Given the description of an element on the screen output the (x, y) to click on. 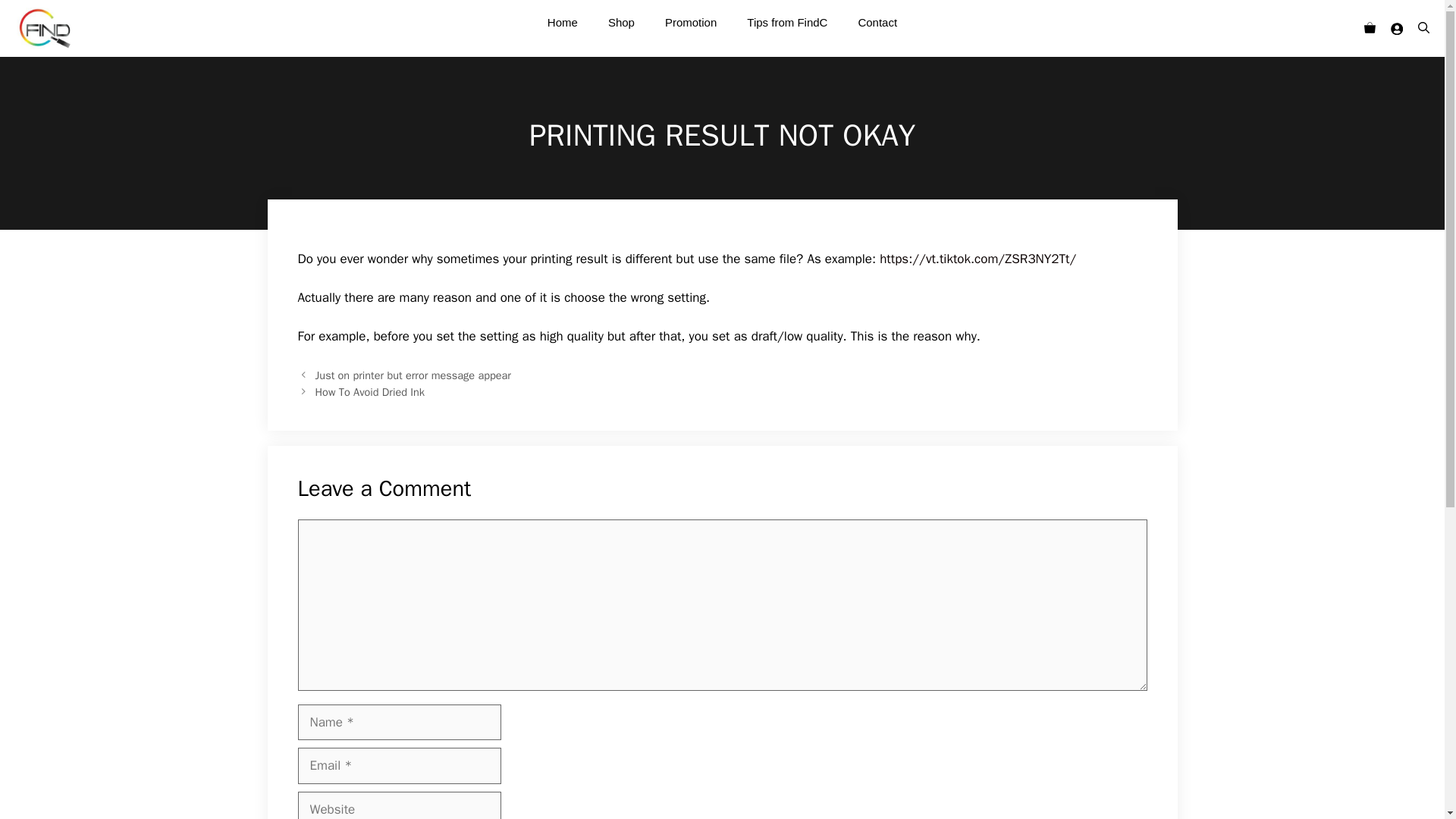
Just on printer but error message appear (413, 375)
View your shopping cart (1369, 28)
How To Avoid Dried Ink (370, 391)
Shop (620, 22)
Promotion (690, 22)
FindC (44, 28)
Previous (413, 375)
Tips from FindC (787, 22)
Next (370, 391)
Home (562, 22)
Contact (877, 22)
